Given the description of an element on the screen output the (x, y) to click on. 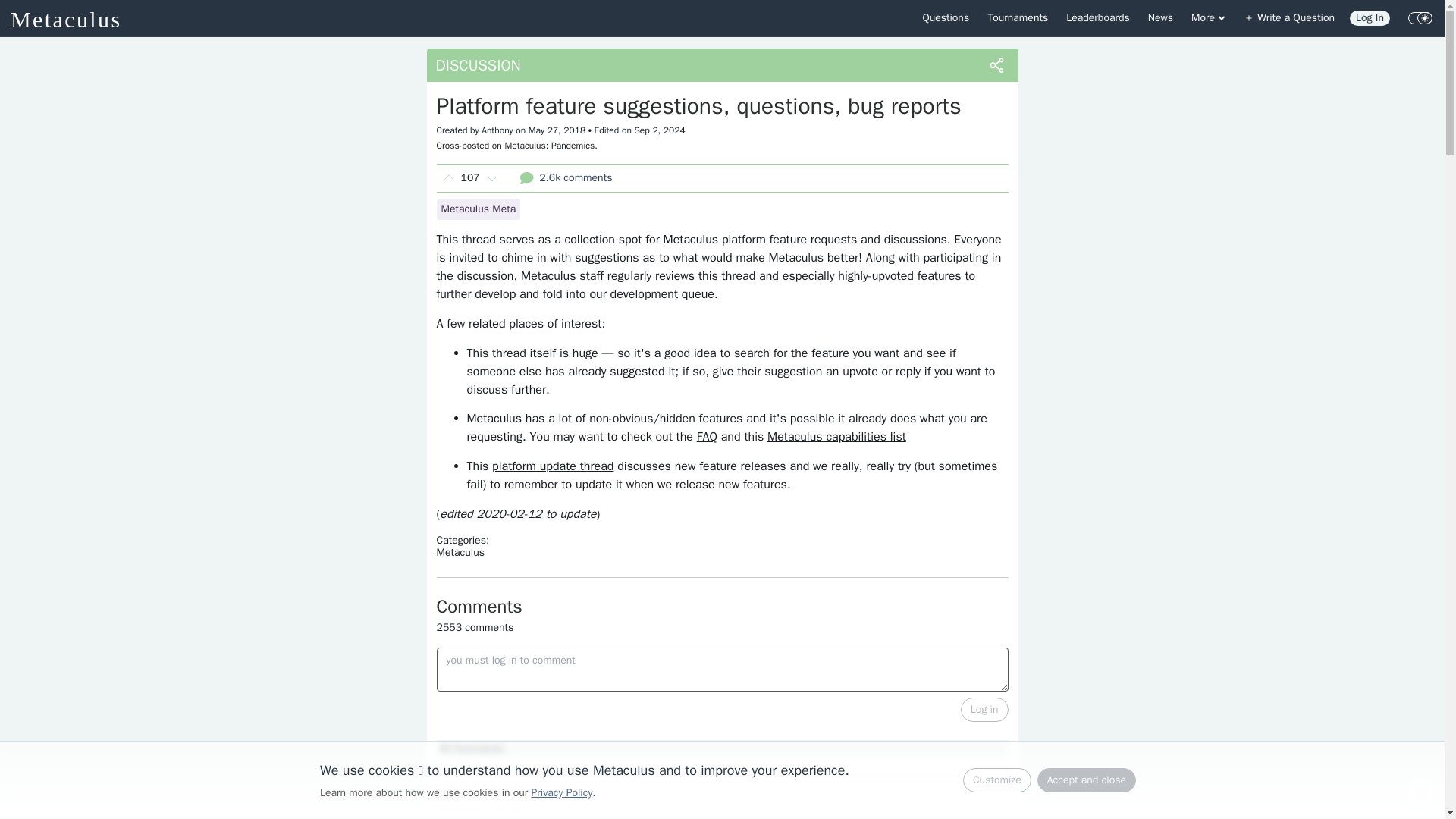
Metaculus capabilities list (836, 436)
2.6k comments (567, 177)
platform update thread (552, 466)
Log In (1369, 17)
Metaculus Meta (478, 209)
Leaderboards (1097, 18)
More (1208, 18)
Comments (722, 606)
Log in (984, 709)
Tournaments (1017, 18)
